Given the description of an element on the screen output the (x, y) to click on. 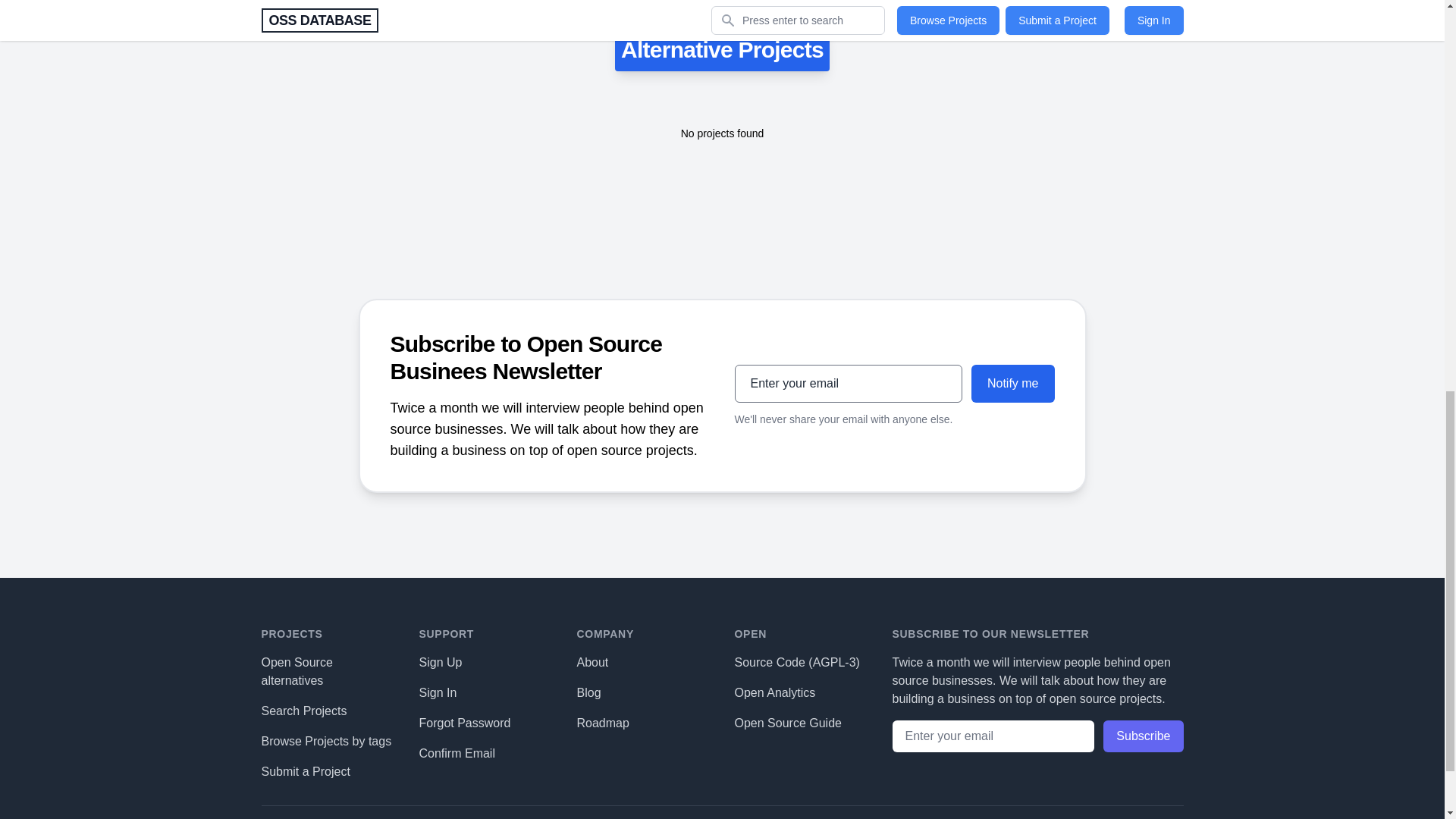
Confirm Email (457, 752)
Roadmap (602, 721)
Sign In (438, 691)
Search Projects (303, 709)
Sign Up (440, 661)
Browse Projects by tags (325, 739)
Open Source Guide (787, 721)
Blog (587, 691)
Open Analytics (774, 691)
Notify me (1012, 382)
Forgot Password (465, 721)
Submit a Project (304, 770)
Open Source alternatives (295, 670)
About (592, 661)
